Given the description of an element on the screen output the (x, y) to click on. 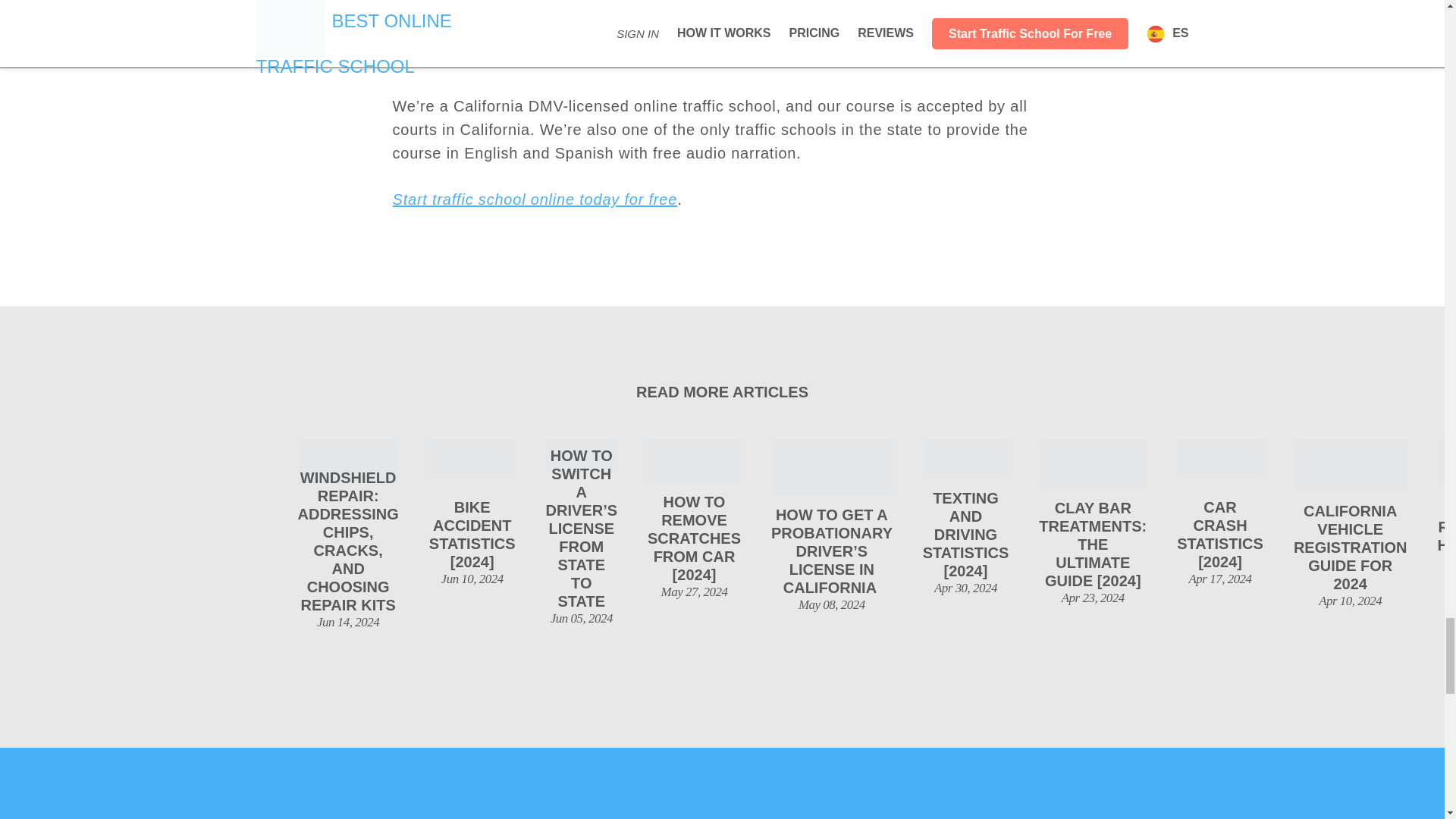
Start traffic school online today for free (535, 199)
